Given the description of an element on the screen output the (x, y) to click on. 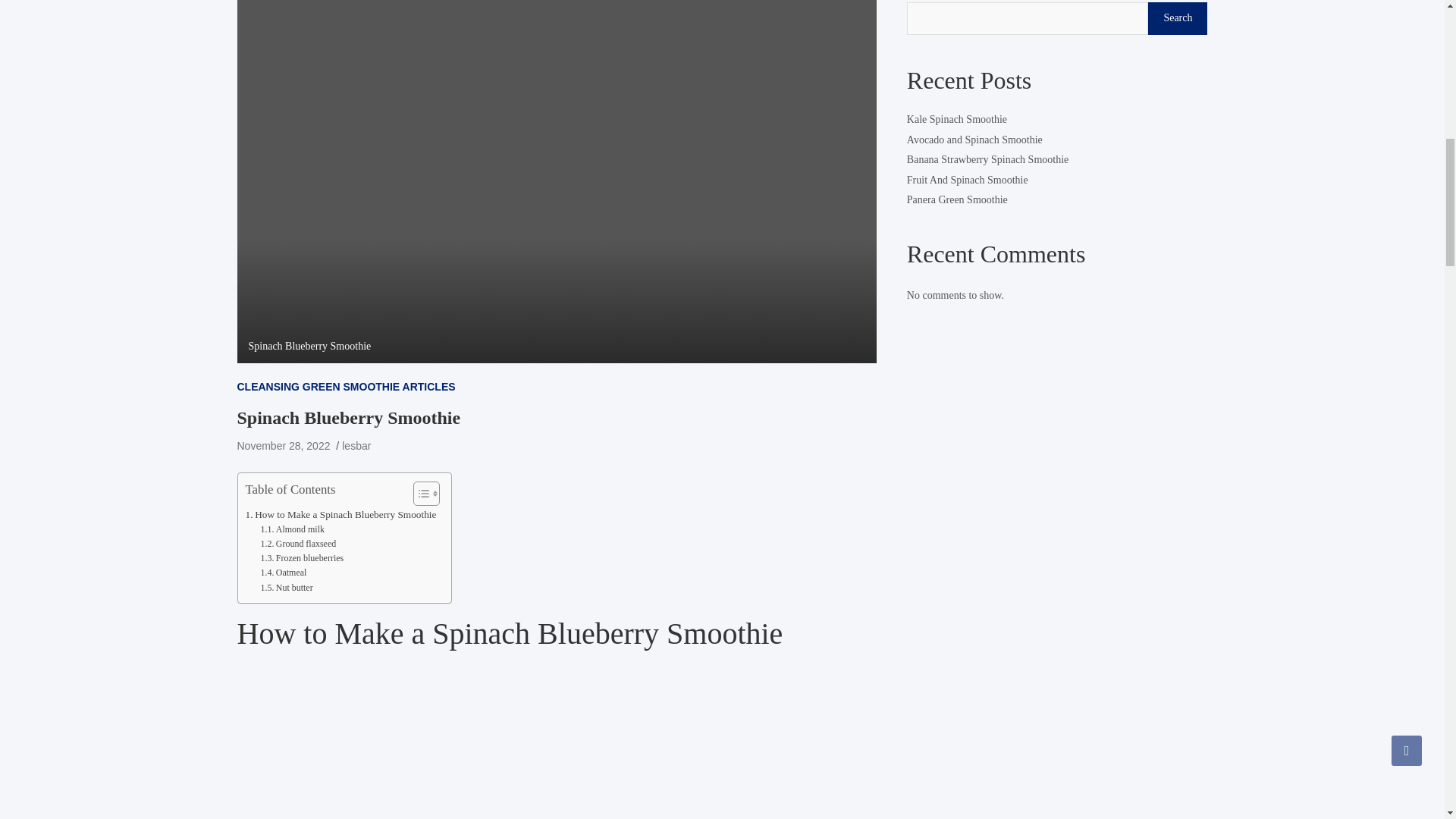
Panera Green Smoothie (957, 199)
Almond milk (292, 529)
Oatmeal (282, 572)
Frozen blueberries (301, 558)
Spinach Blueberry Smoothie (282, 445)
Ground flaxseed (298, 544)
Search (1177, 18)
Oatmeal (282, 572)
Fruit And Spinach Smoothie (967, 179)
Almond milk (292, 529)
